Given the description of an element on the screen output the (x, y) to click on. 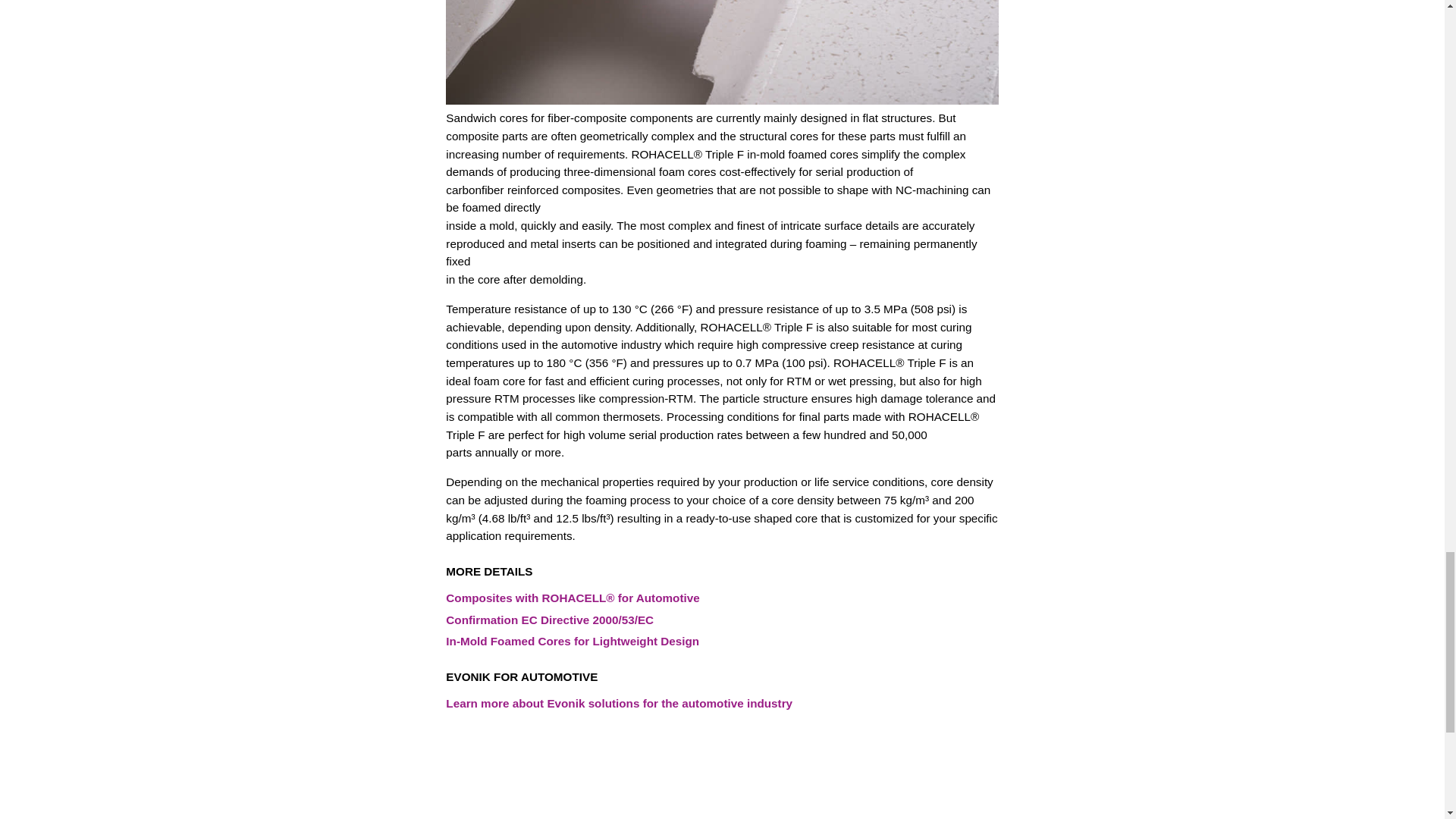
Your contacts (432, 790)
In-Mold Foamed Cores for Lightweight Design  (573, 641)
YOUR CONTACTS (432, 790)
